Given the description of an element on the screen output the (x, y) to click on. 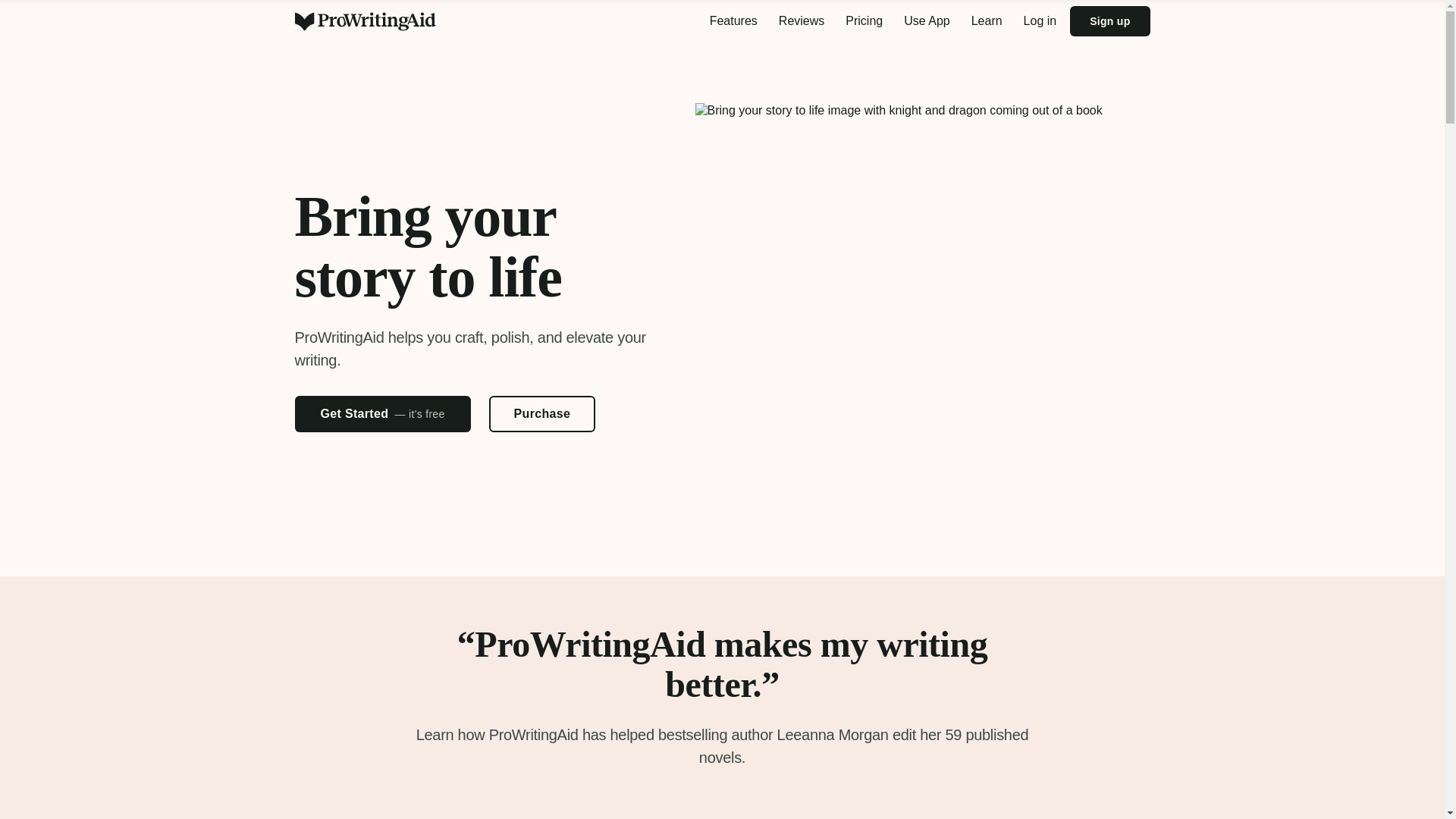
Log in (1039, 21)
Features (733, 21)
Purchase (542, 413)
Reviews (801, 21)
Use App (926, 21)
Sign up (1110, 20)
Pricing (863, 21)
Learn (986, 21)
